Given the description of an element on the screen output the (x, y) to click on. 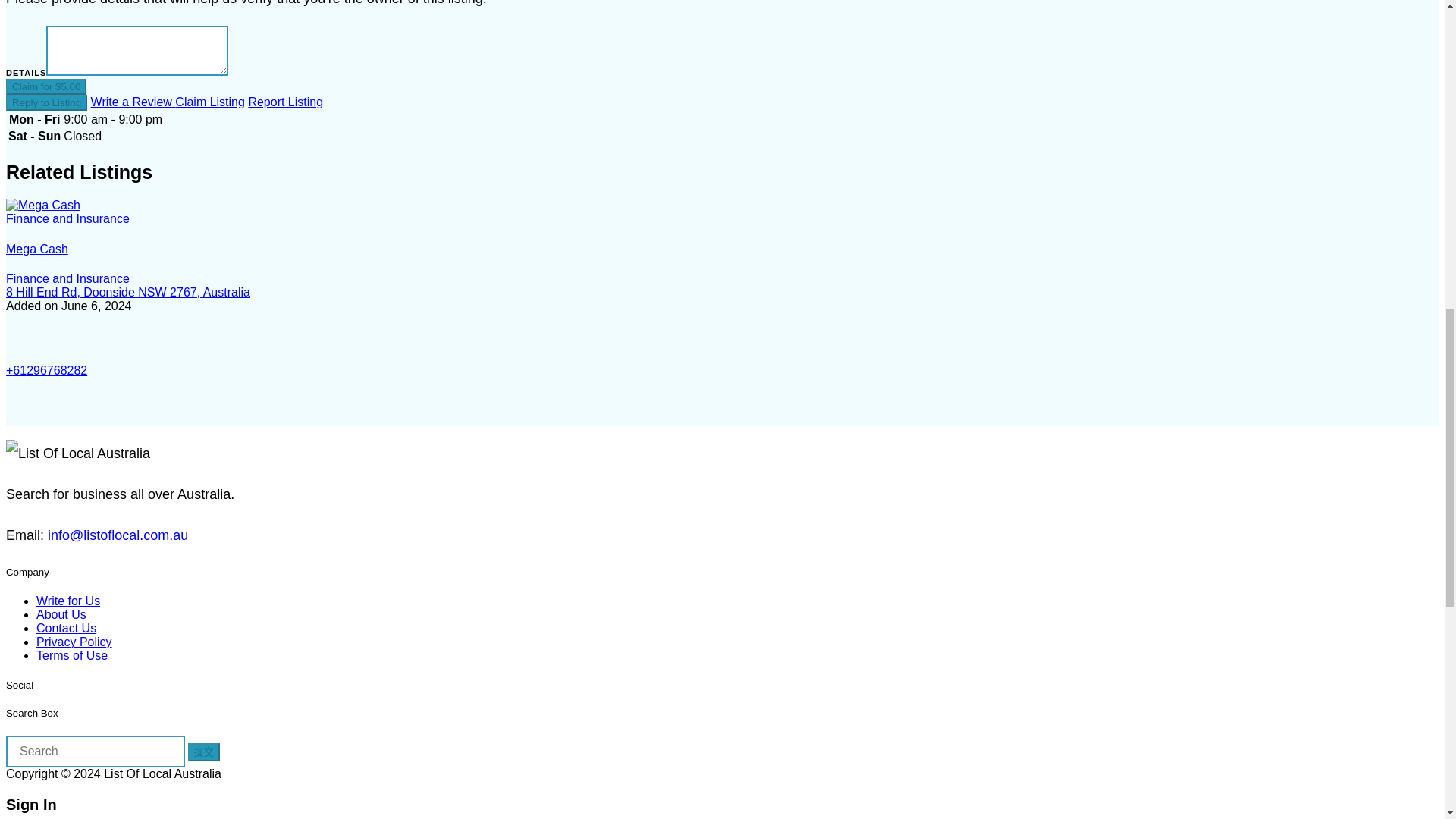
Report Listing (285, 101)
Finance and Insurance (67, 278)
Write a Review (133, 101)
8 Hill End Rd, Doonside NSW 2767, Australia (127, 291)
Finance and Insurance (67, 218)
Reply to Listing (46, 102)
Claim Listing (209, 101)
Mega Cash (36, 248)
